Given the description of an element on the screen output the (x, y) to click on. 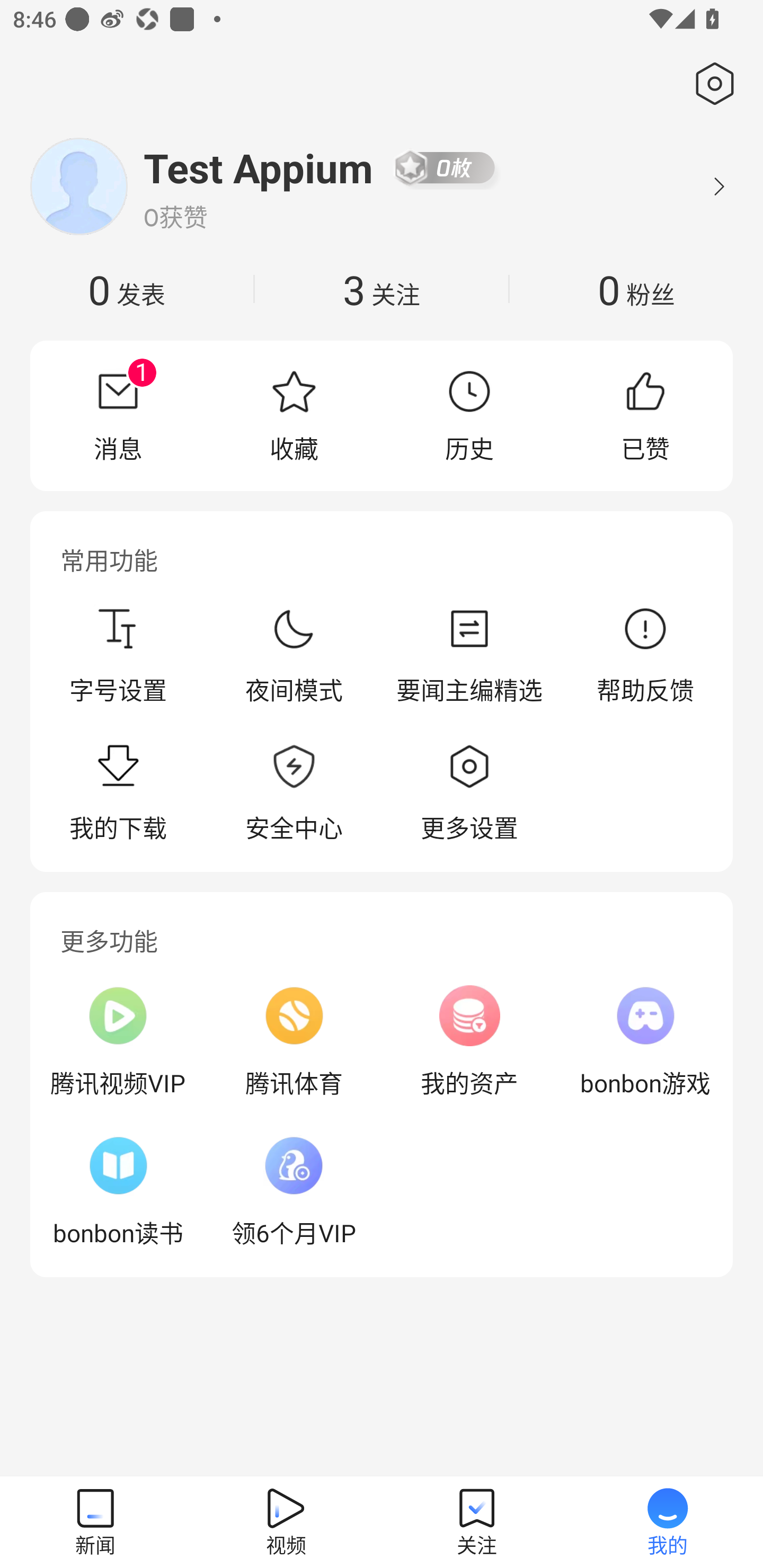
设置，可点击 (711, 83)
头像，可点击 (78, 186)
用户：Test Appium，可点击 (258, 167)
0枚勋章，可点击 (444, 167)
0发表，可点击 (126, 288)
3关注，可点击 (381, 288)
0粉丝，可点击 (636, 288)
消息，可点击 (118, 415)
收藏，可点击 (293, 415)
历史，可点击 (469, 415)
已赞，可点击 (644, 415)
字号设置，可点击 (118, 655)
夜间模式，可点击 (293, 655)
要闻主编精选，可点击 (469, 655)
帮助反馈，可点击 (644, 655)
我的下载，可点击 (118, 793)
安全中心，可点击 (293, 793)
更多设置，可点击 (469, 793)
腾讯视频VIP，可点击 (118, 1041)
腾讯体育，可点击 (293, 1041)
我的资产，可点击 (469, 1041)
bonbon游戏，可点击 (644, 1041)
bonbon读书，可点击 (118, 1191)
领6个月VIP，可点击 (293, 1191)
